Given the description of an element on the screen output the (x, y) to click on. 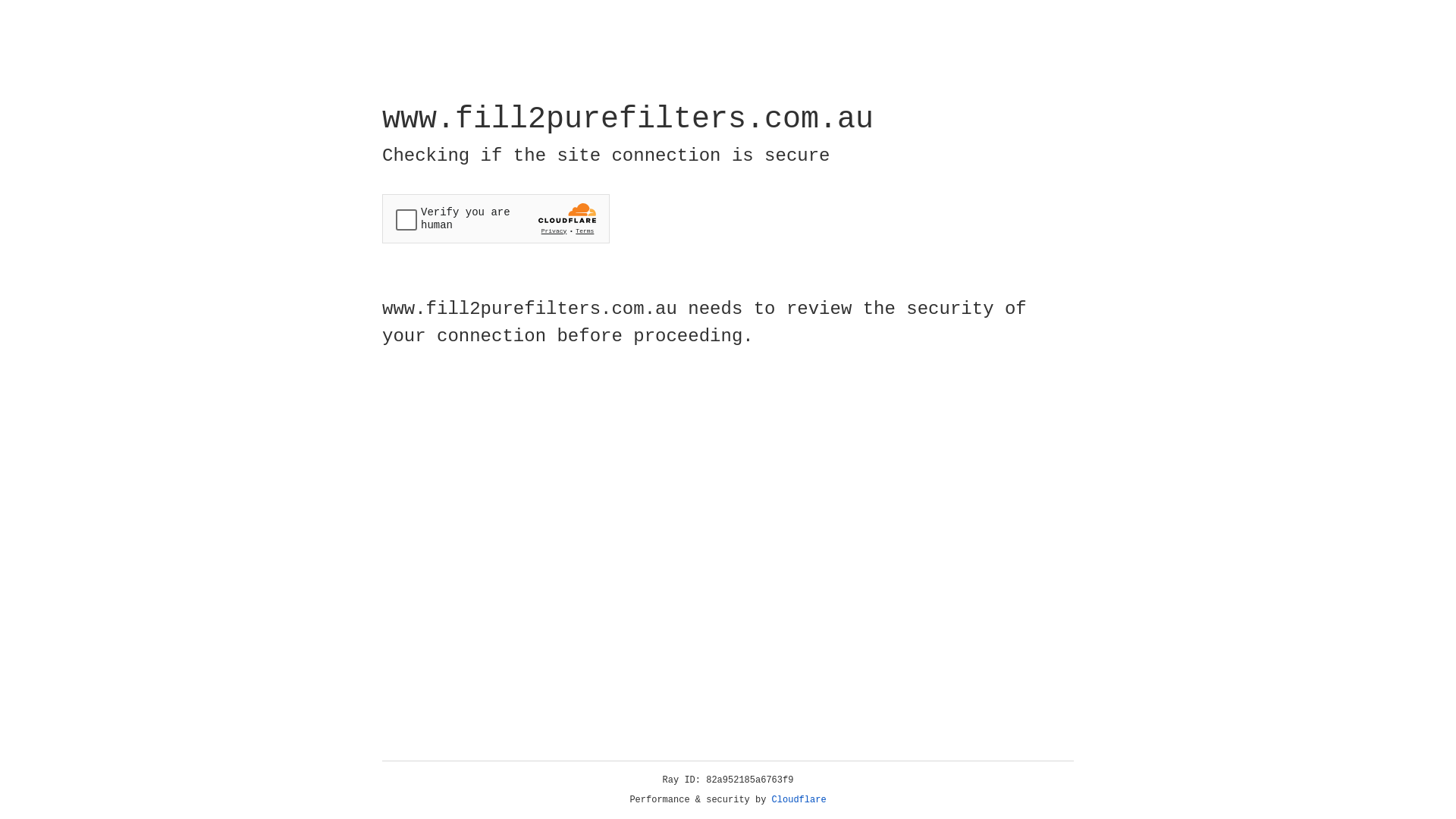
Cloudflare Element type: text (798, 799)
Widget containing a Cloudflare security challenge Element type: hover (495, 218)
